Given the description of an element on the screen output the (x, y) to click on. 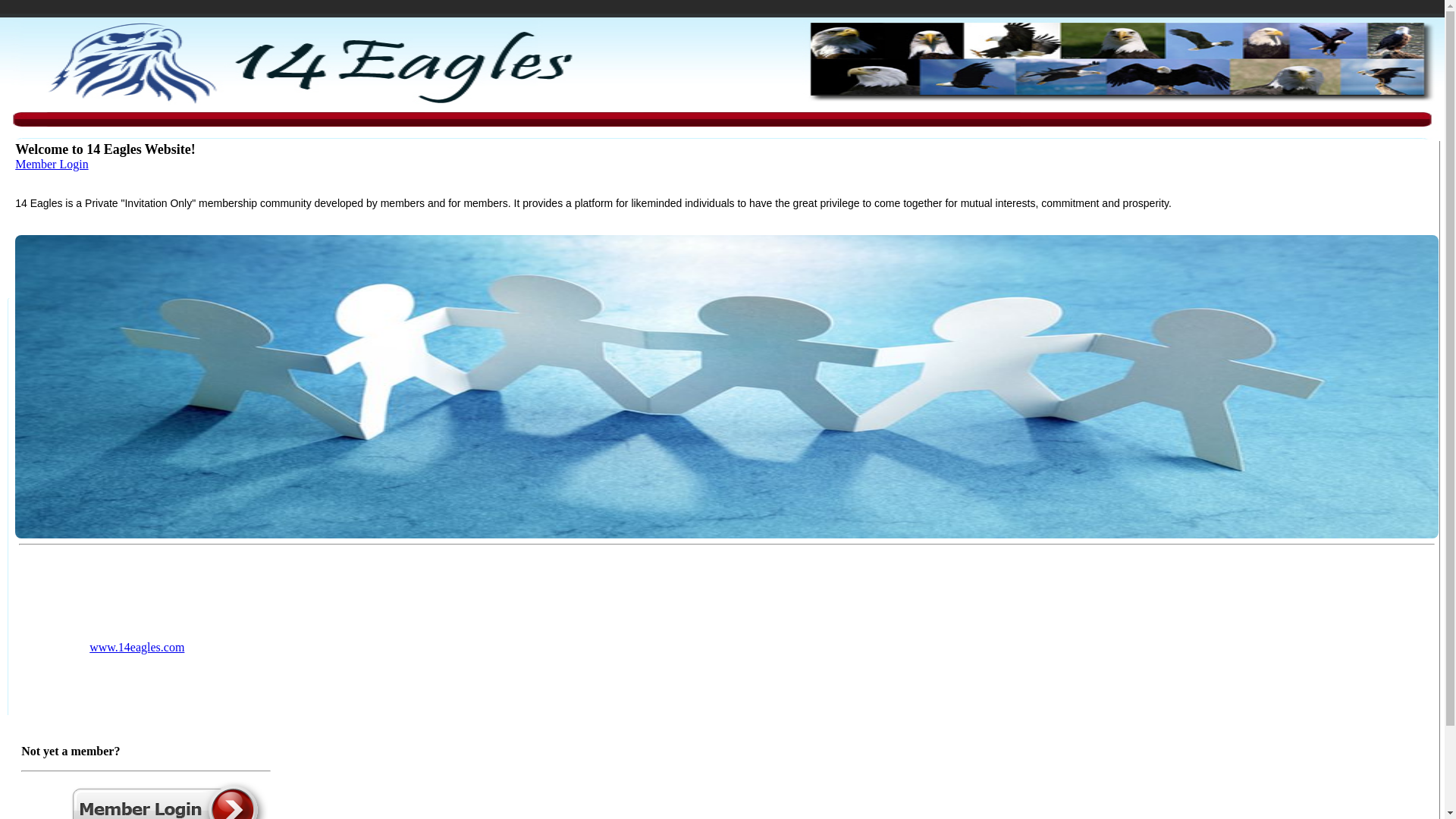
www.14eagles.com Element type: text (136, 646)
Member Login Element type: text (51, 163)
